Given the description of an element on the screen output the (x, y) to click on. 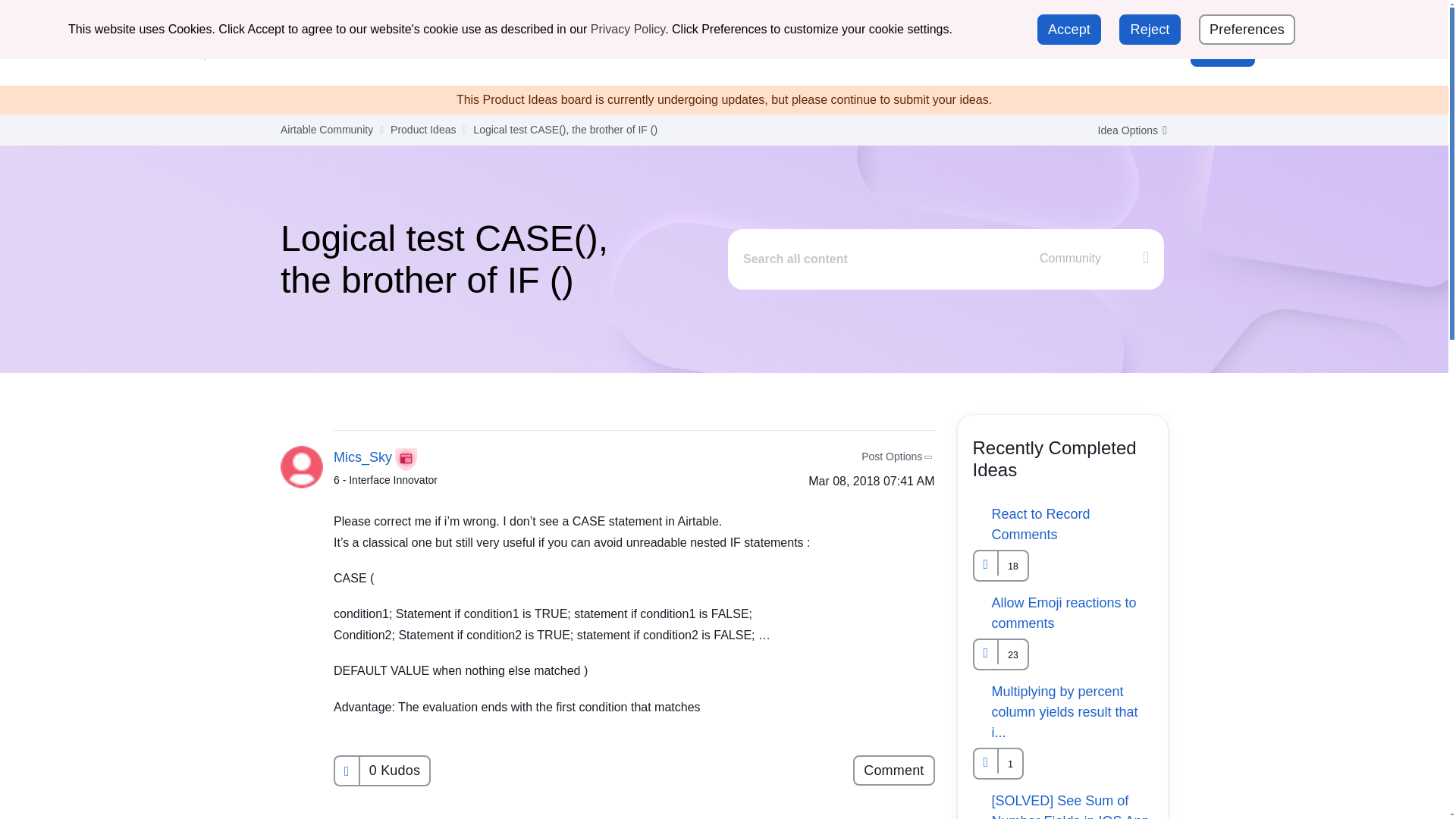
Discussions (519, 50)
Search Granularity (1096, 258)
Preferences (1246, 29)
Resources (734, 50)
Accept (1068, 29)
Airtable Community (269, 51)
Announcements (417, 50)
Product Ideas (826, 50)
Show option menu (1127, 130)
Privacy Policy (628, 29)
Search (1114, 51)
Groups (597, 50)
Reject (1149, 29)
Sign up for Airtable (1204, 17)
Events (661, 50)
